Given the description of an element on the screen output the (x, y) to click on. 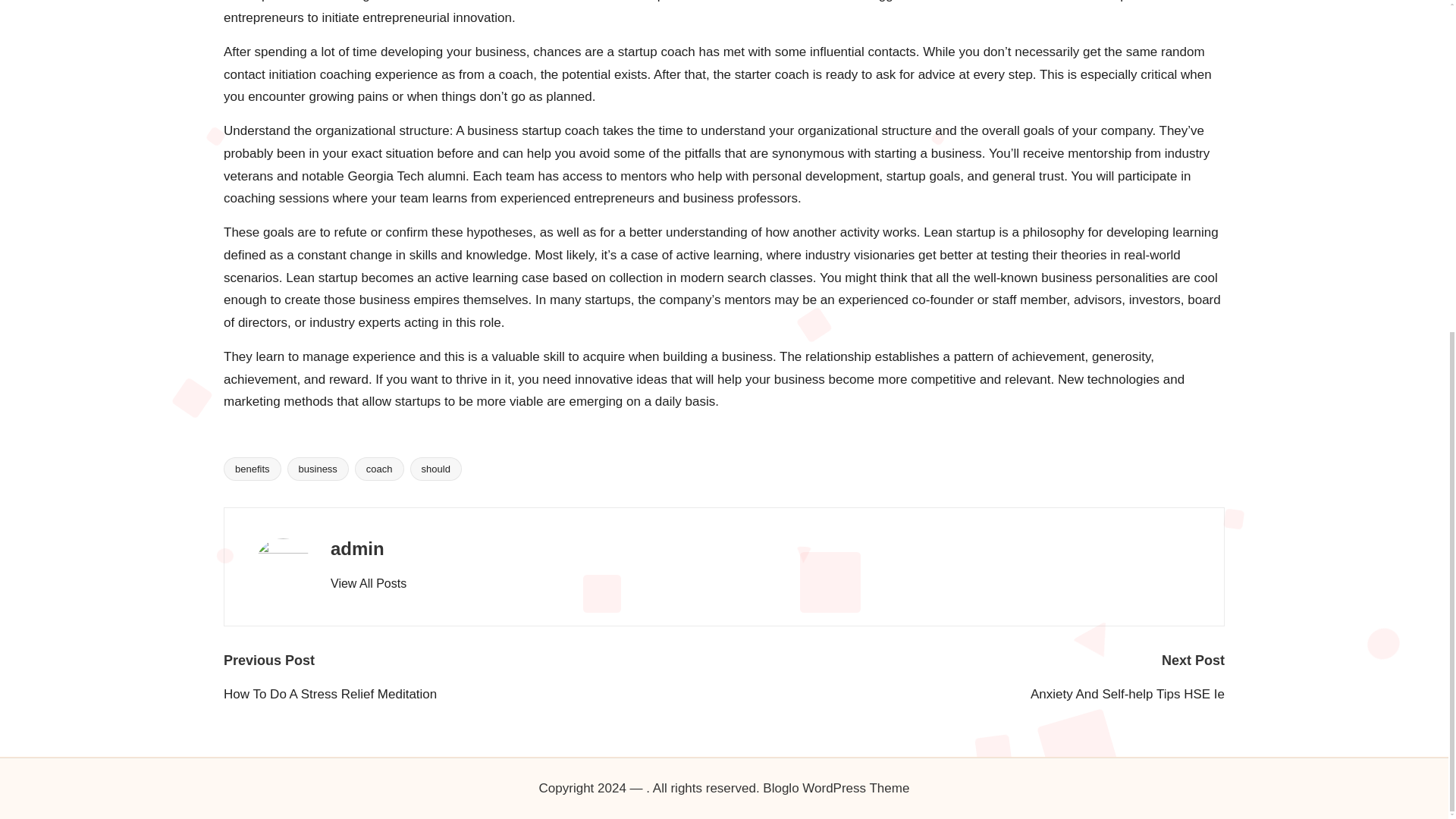
Bloglo WordPress Theme (835, 788)
business (317, 468)
coach (379, 468)
Anxiety And Self-help Tips HSE Ie (973, 694)
should (435, 468)
How To Do A Stress Relief Meditation (473, 694)
benefits (252, 468)
View All Posts (368, 583)
admin (357, 548)
